Given the description of an element on the screen output the (x, y) to click on. 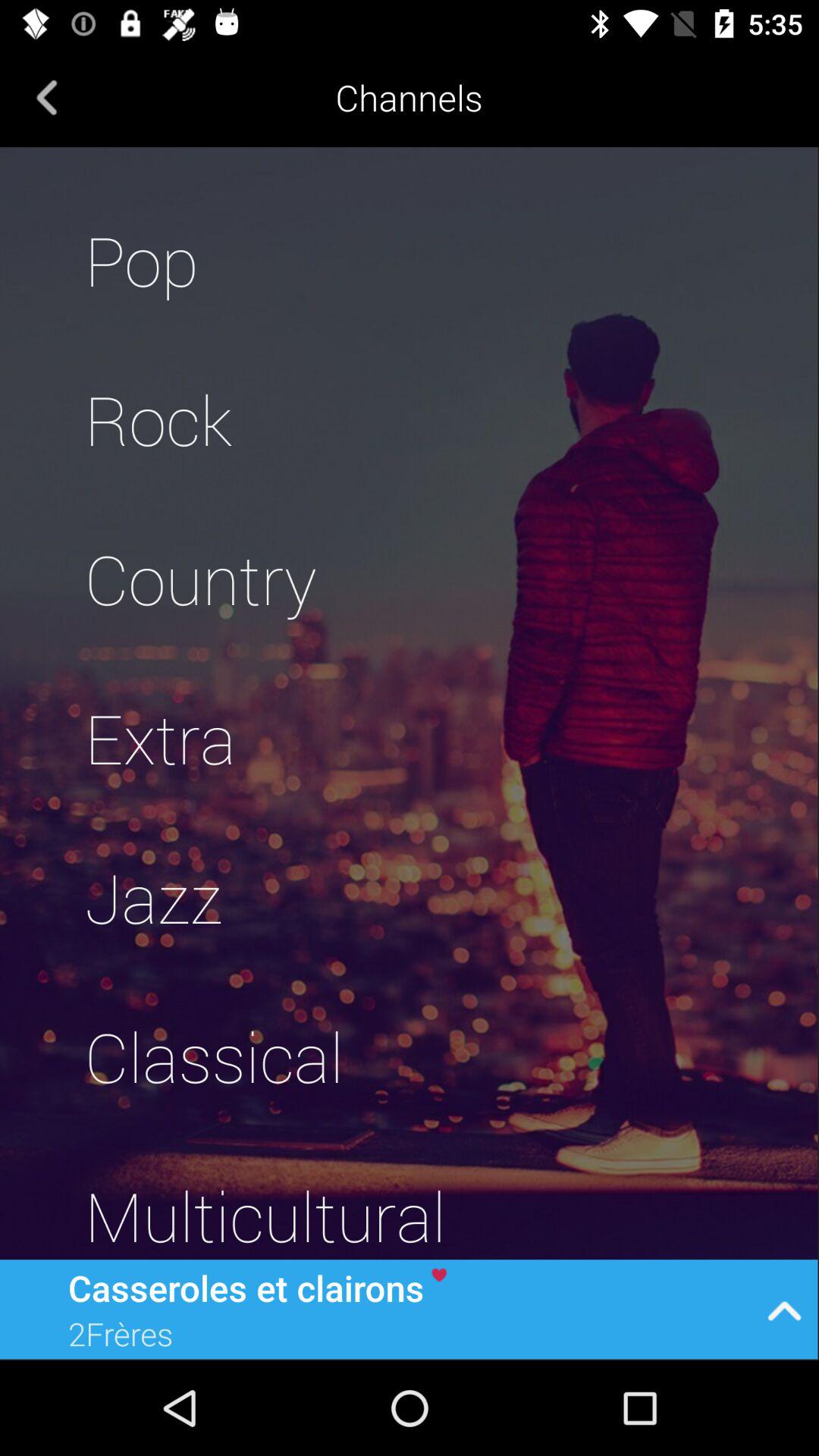
tap icon at the bottom right corner (784, 1309)
